Given the description of an element on the screen output the (x, y) to click on. 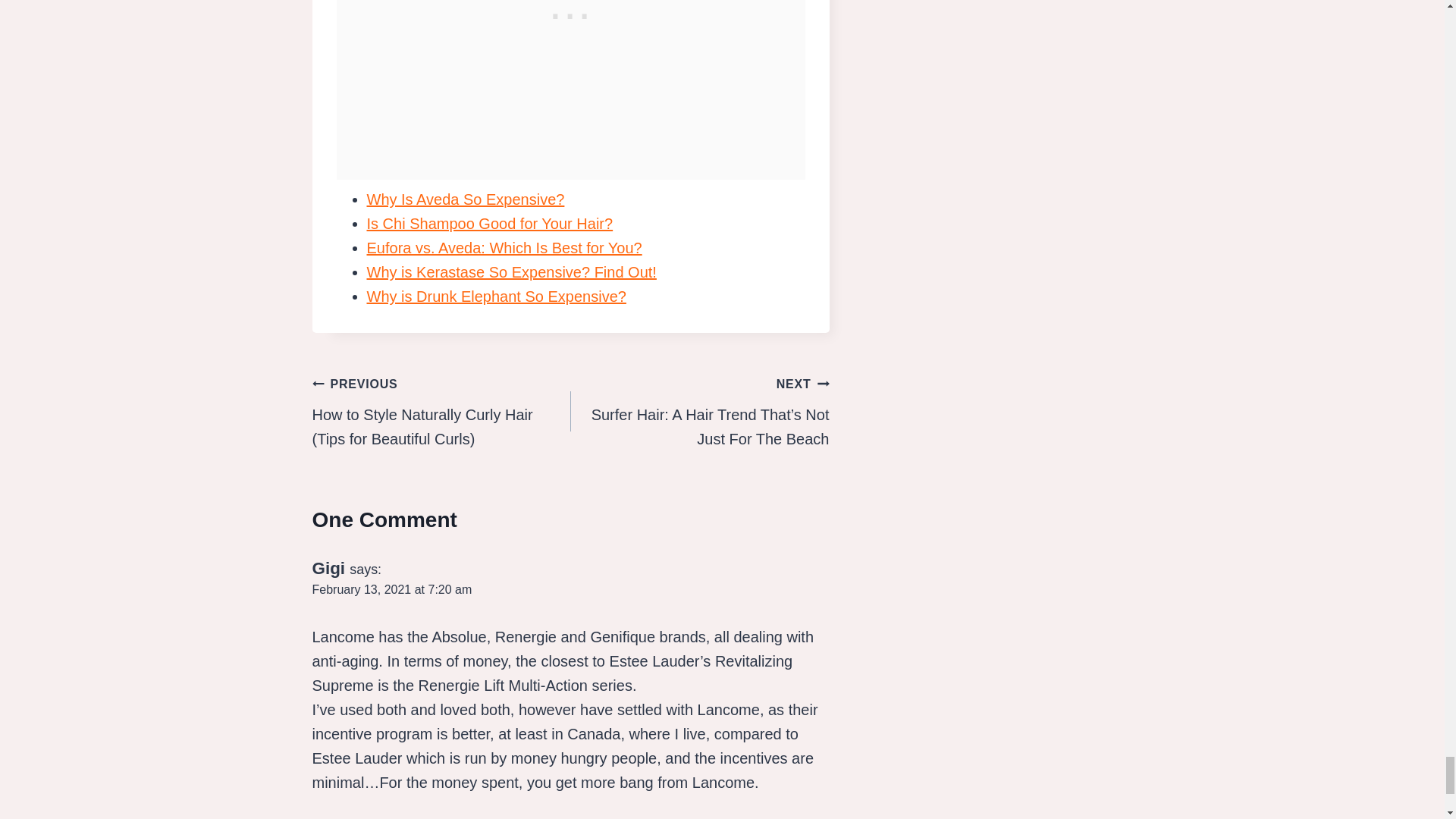
Why is Kerastase So Expensive? Find Out! (511, 271)
Eufora vs. Aveda: Which Is Best for You? (504, 247)
Why Is Aveda So Expensive? (465, 199)
Is Chi Shampoo Good for Your Hair? (489, 223)
Why is Drunk Elephant So Expensive? (496, 296)
February 13, 2021 at 7:20 am (392, 589)
